Given the description of an element on the screen output the (x, y) to click on. 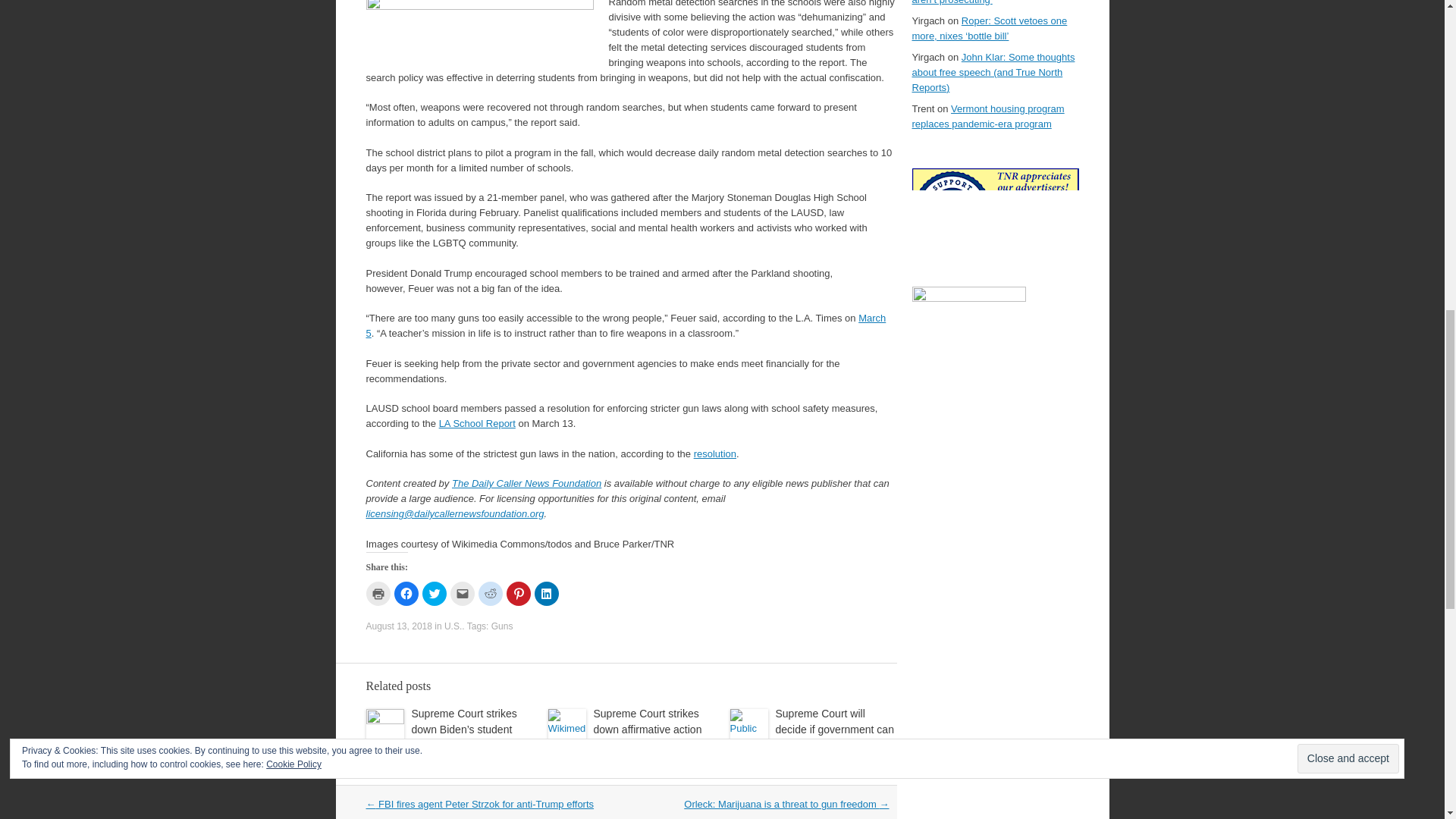
Click to share on Reddit (489, 593)
Click to share on Pinterest (518, 593)
Click to print (377, 593)
Click to share on Facebook (406, 593)
Support our advertisers! (994, 247)
Click to share on LinkedIn (545, 593)
Click to share on Twitter (433, 593)
Click to email this to a friend (461, 593)
